Given the description of an element on the screen output the (x, y) to click on. 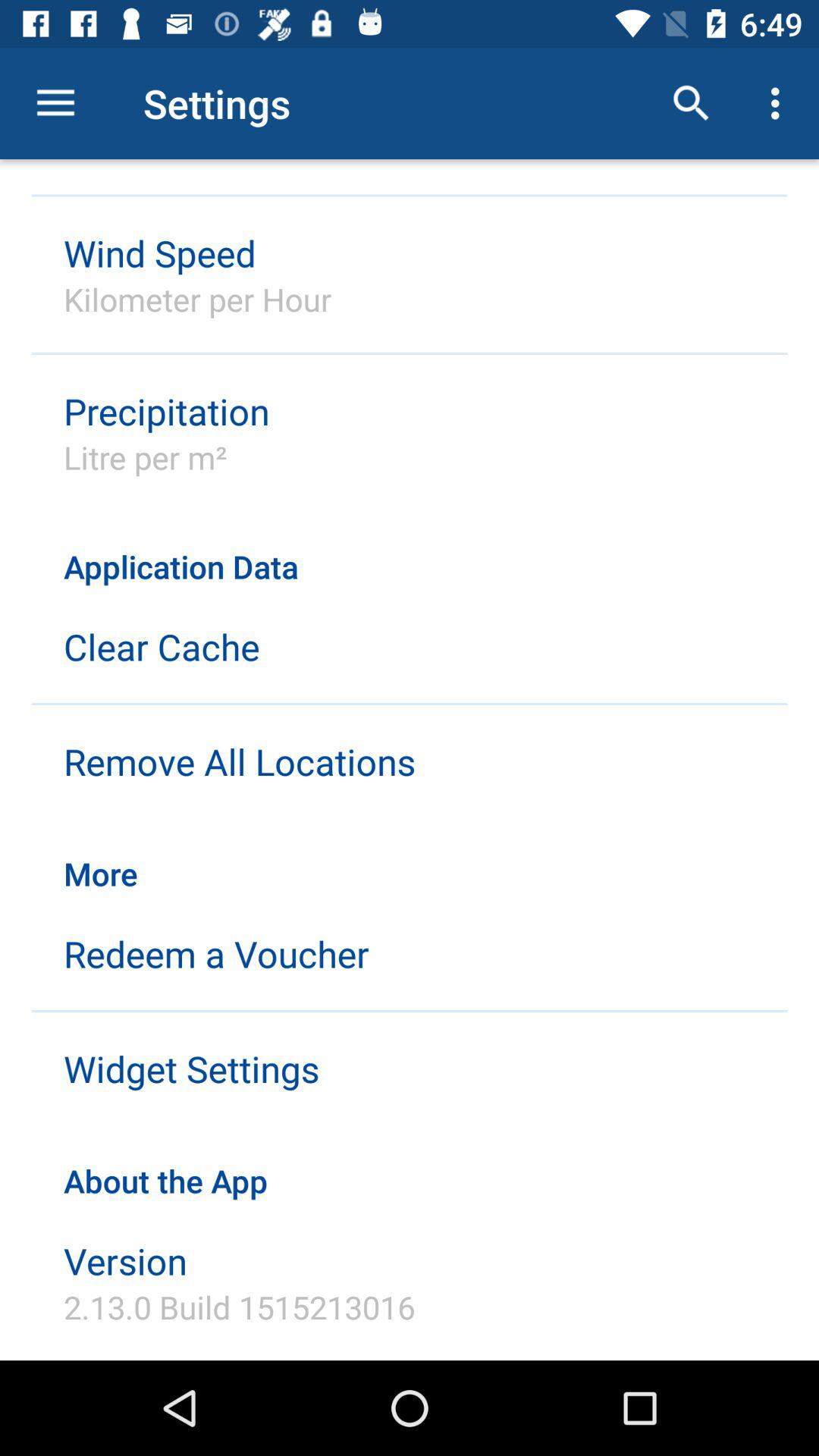
choose the clear cache icon (161, 646)
